Given the description of an element on the screen output the (x, y) to click on. 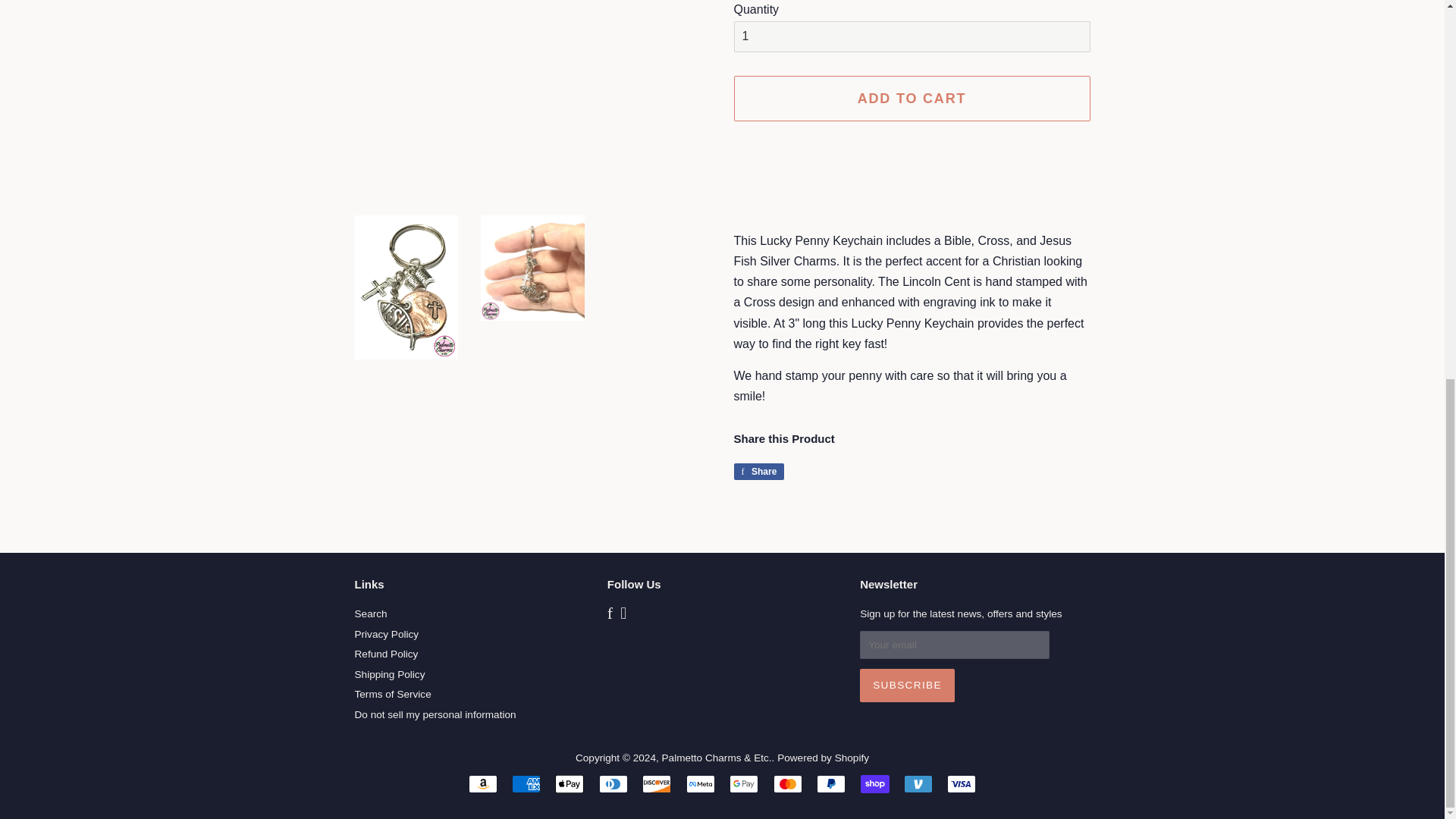
Privacy Policy (387, 633)
Diners Club (612, 783)
Shop Pay (874, 783)
Meta Pay (699, 783)
Discover (656, 783)
Venmo (918, 783)
Mastercard (787, 783)
PayPal (758, 471)
Search (830, 783)
1 (371, 613)
ADD TO CART (911, 36)
Apple Pay (911, 98)
Subscribe (568, 783)
Google Pay (907, 685)
